Given the description of an element on the screen output the (x, y) to click on. 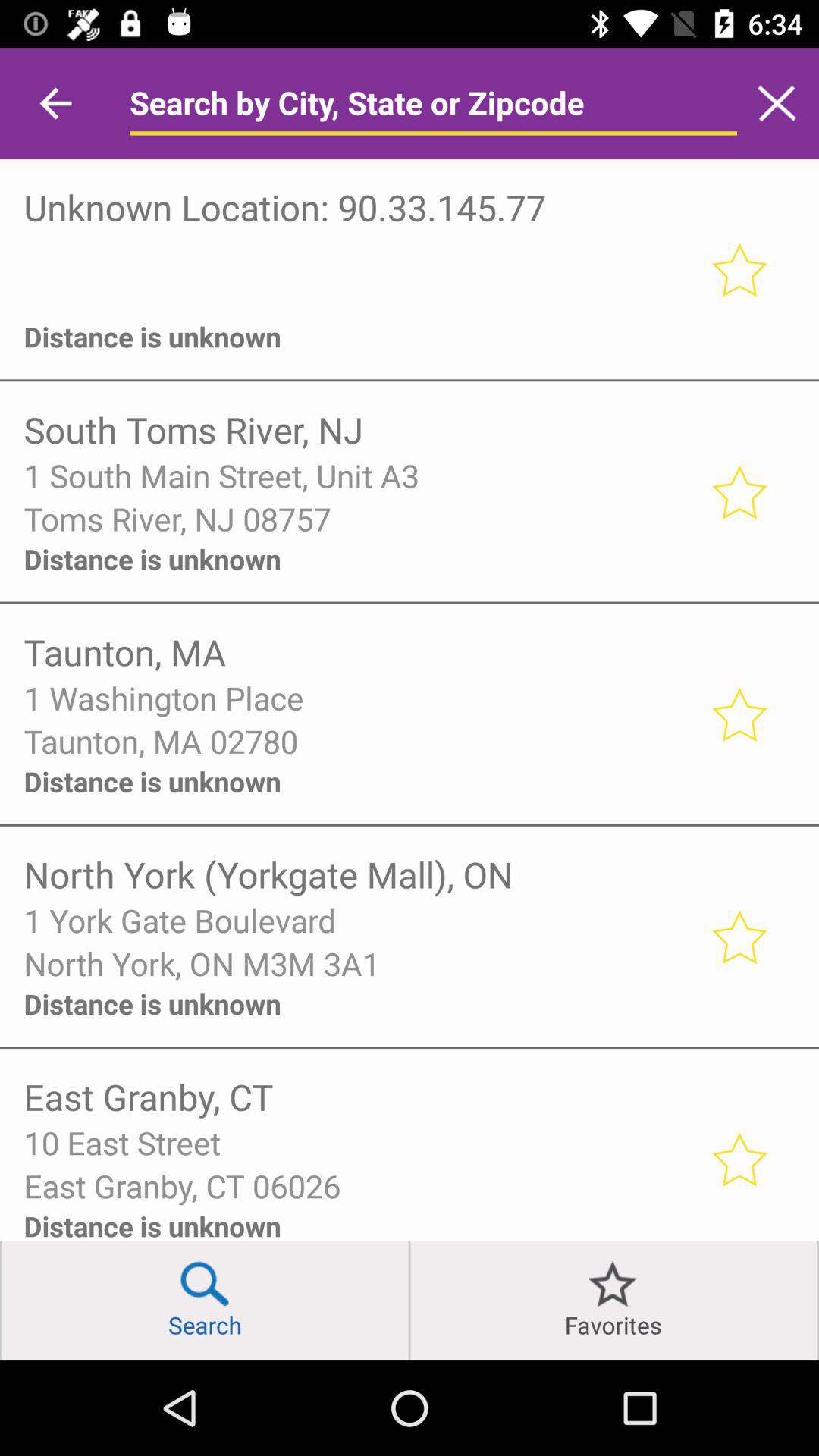
choose icon to the left of the favorites item (409, 1300)
